Given the description of an element on the screen output the (x, y) to click on. 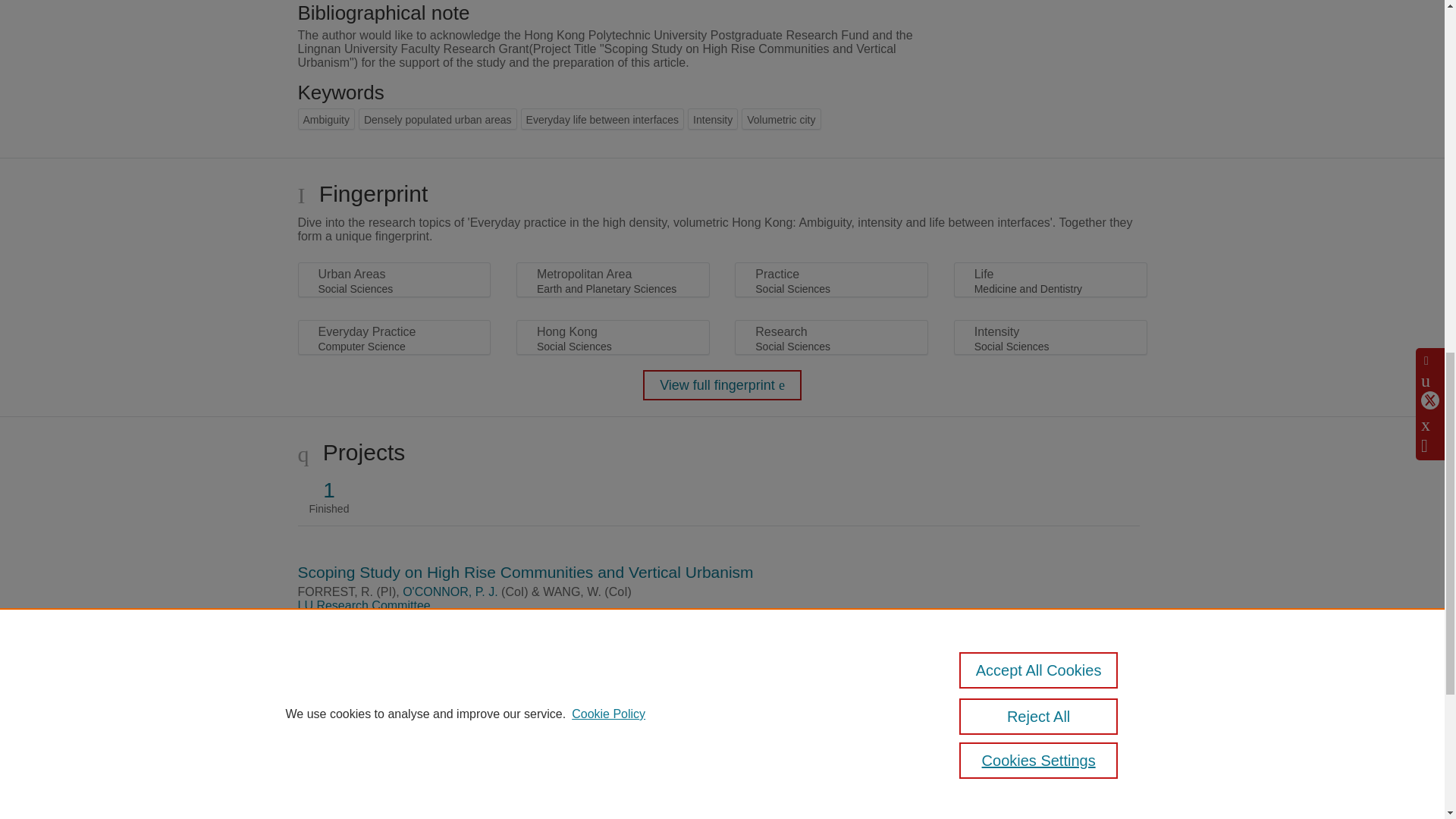
View full fingerprint (722, 385)
Scoping Study on High Rise Communities and Vertical Urbanism (524, 571)
1 (328, 490)
